Given the description of an element on the screen output the (x, y) to click on. 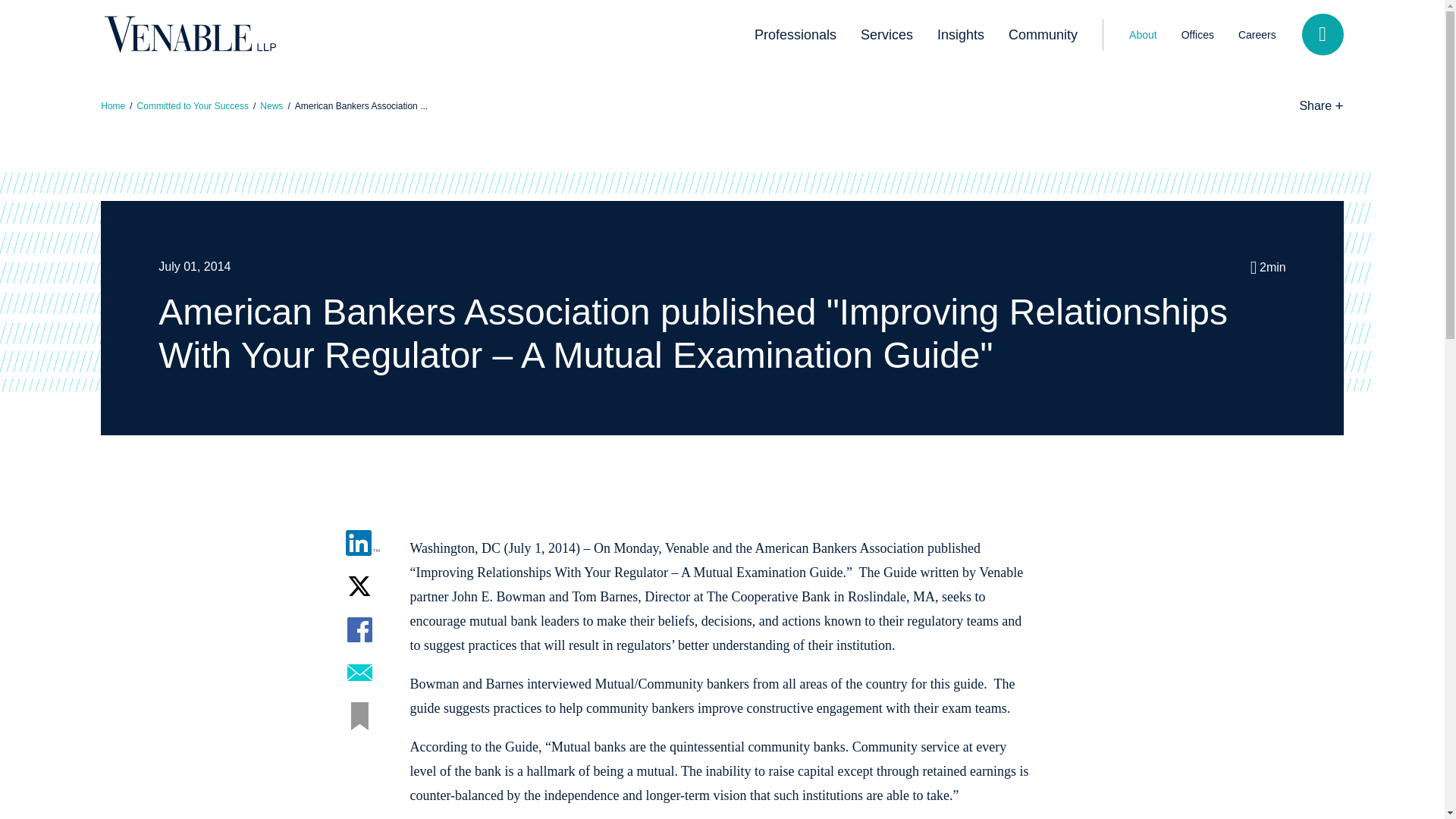
Community (1042, 34)
Professionals (795, 34)
Careers (1256, 34)
About (1142, 34)
Services (886, 34)
Insights (959, 34)
Committed to Your Success (192, 105)
Home (112, 105)
News (271, 105)
Offices (1197, 34)
